Given the description of an element on the screen output the (x, y) to click on. 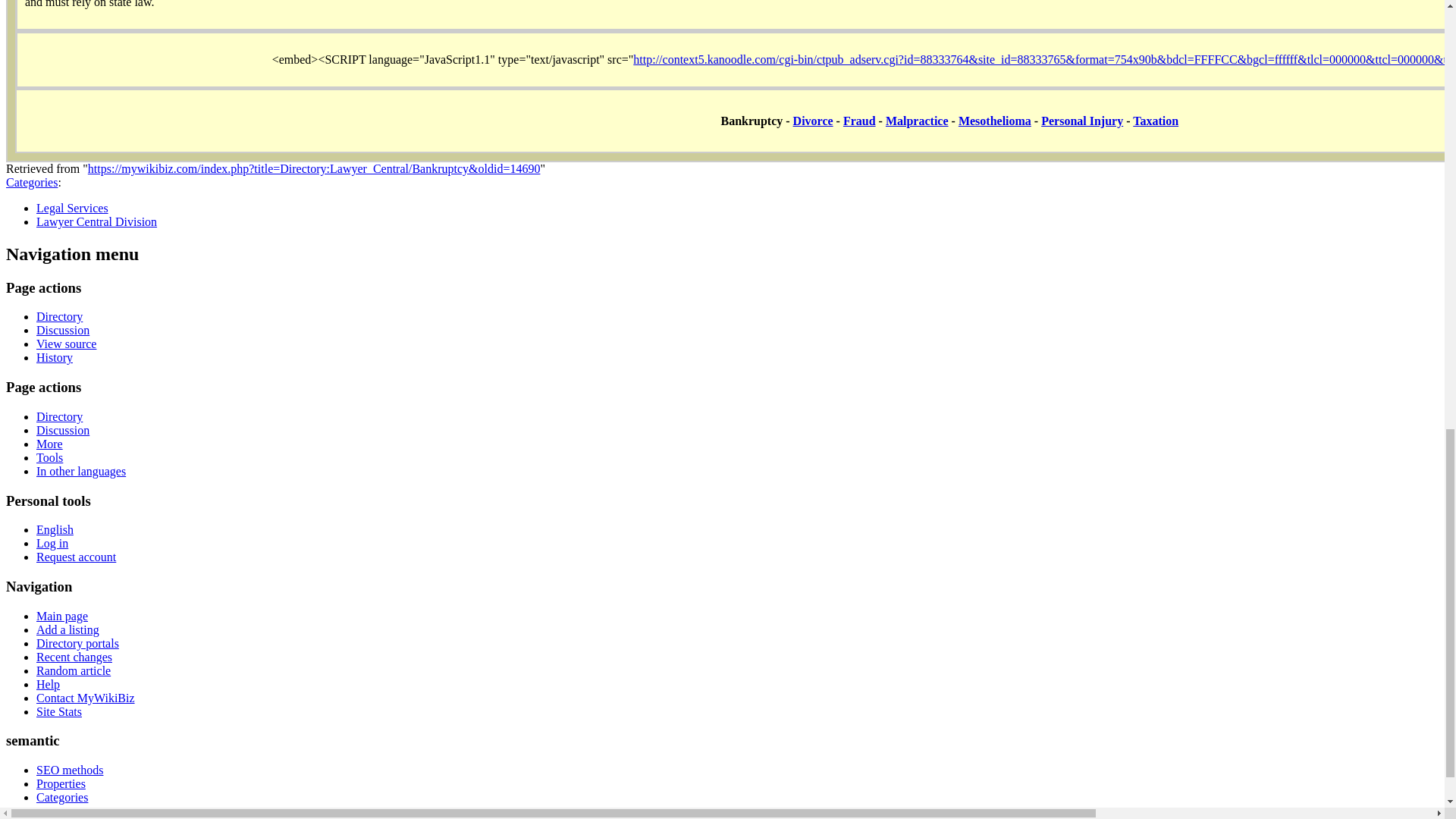
Request account (76, 556)
History (54, 357)
Directory (59, 316)
Divorce (812, 120)
Bankruptcy (751, 120)
Special:Categories (31, 182)
Category:Lawyer Central Division (96, 221)
In other languages (80, 471)
Lawyer Central Division (96, 221)
More (49, 443)
Categories (31, 182)
Fraud (859, 120)
Tools (49, 457)
Log in (52, 543)
Taxation (1154, 120)
